Given the description of an element on the screen output the (x, y) to click on. 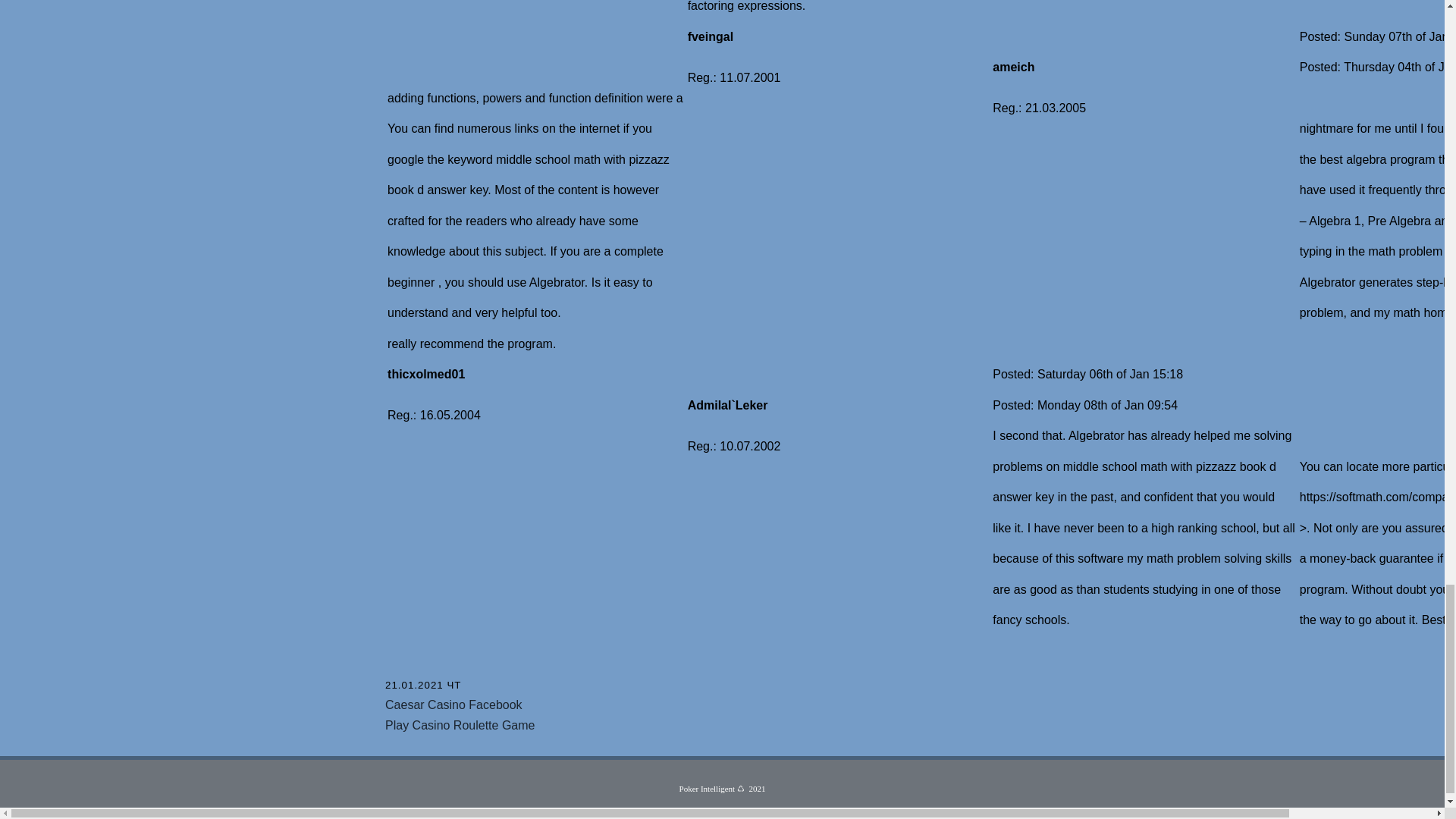
Poker Intelligent (707, 788)
Poker Intelligent (707, 788)
Caesar Casino Facebook (453, 704)
Play Casino Roulette Game (459, 725)
